Given the description of an element on the screen output the (x, y) to click on. 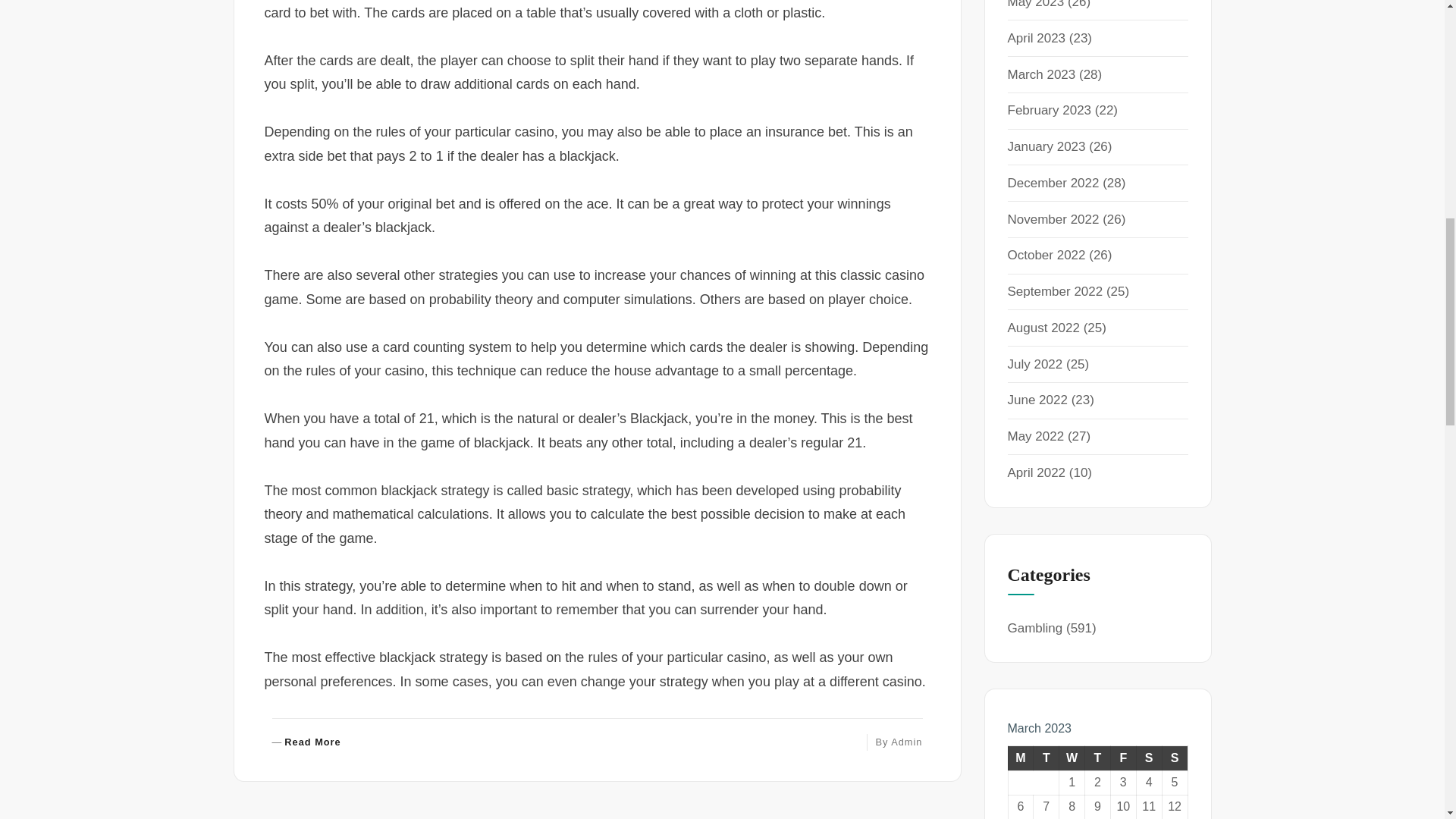
Saturday (1148, 758)
Admin (906, 741)
May 2023 (1035, 4)
Monday (1020, 758)
Tuesday (1046, 758)
Thursday (1097, 758)
December 2022 (305, 742)
April 2023 (1053, 183)
February 2023 (1036, 38)
Wednesday (1048, 110)
November 2022 (1071, 758)
January 2023 (1053, 219)
Sunday (1045, 146)
Friday (1174, 758)
